Given the description of an element on the screen output the (x, y) to click on. 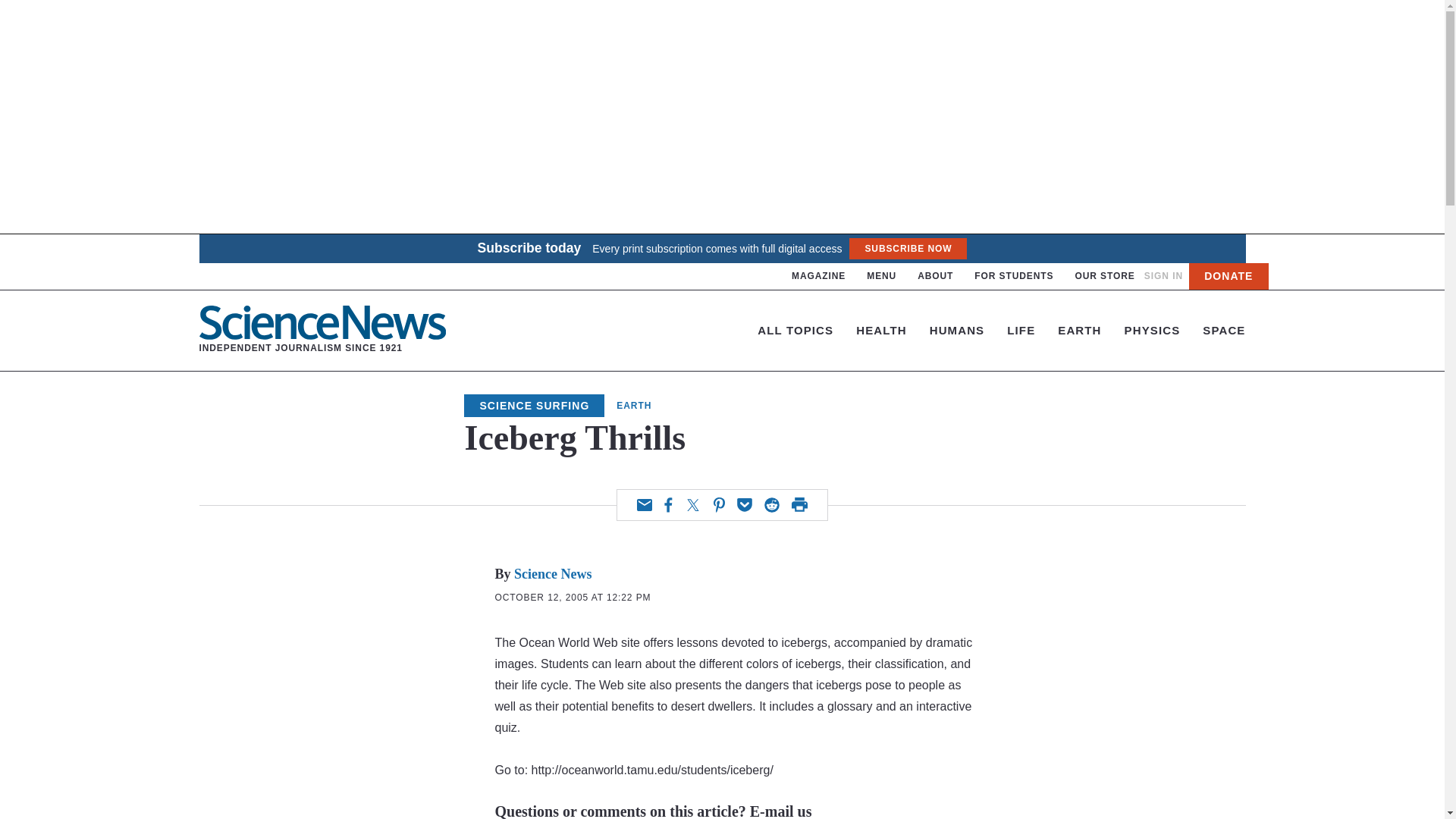
OUR STORE (1104, 275)
SIGN IN (1163, 275)
FOR STUDENTS (1013, 275)
Share via email (644, 504)
SUBSCRIBE NOW (907, 248)
DONATE (1228, 275)
ABOUT (935, 275)
MAGAZINE (818, 275)
MENU (881, 275)
ALL TOPICS (794, 329)
